Given the description of an element on the screen output the (x, y) to click on. 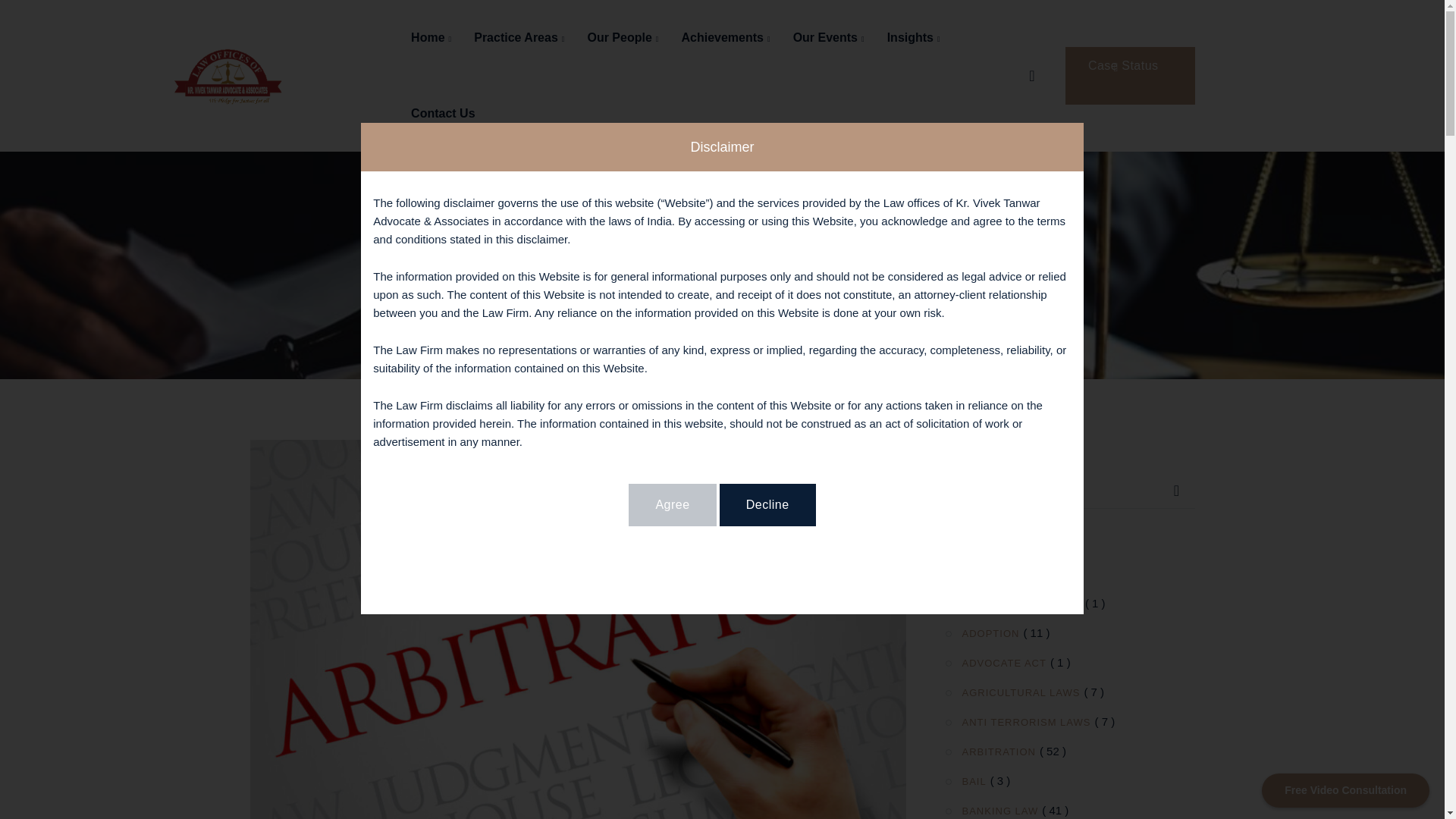
Our People (622, 38)
Advocate Tanwar (228, 75)
Agree (672, 505)
Practice Areas (519, 38)
Decline (767, 505)
